Given the description of an element on the screen output the (x, y) to click on. 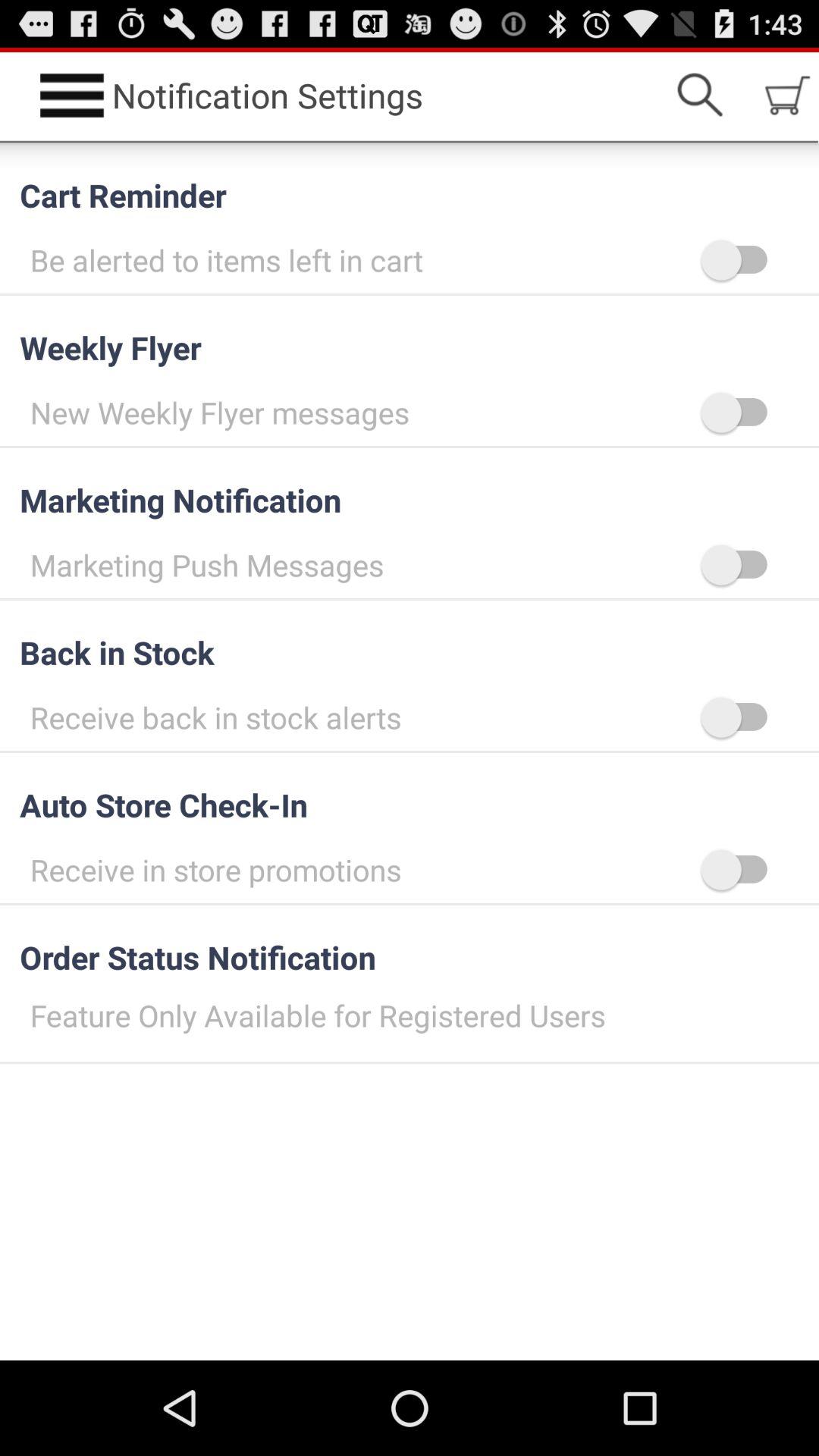
select icon to the right of notification settings (699, 95)
